Given the description of an element on the screen output the (x, y) to click on. 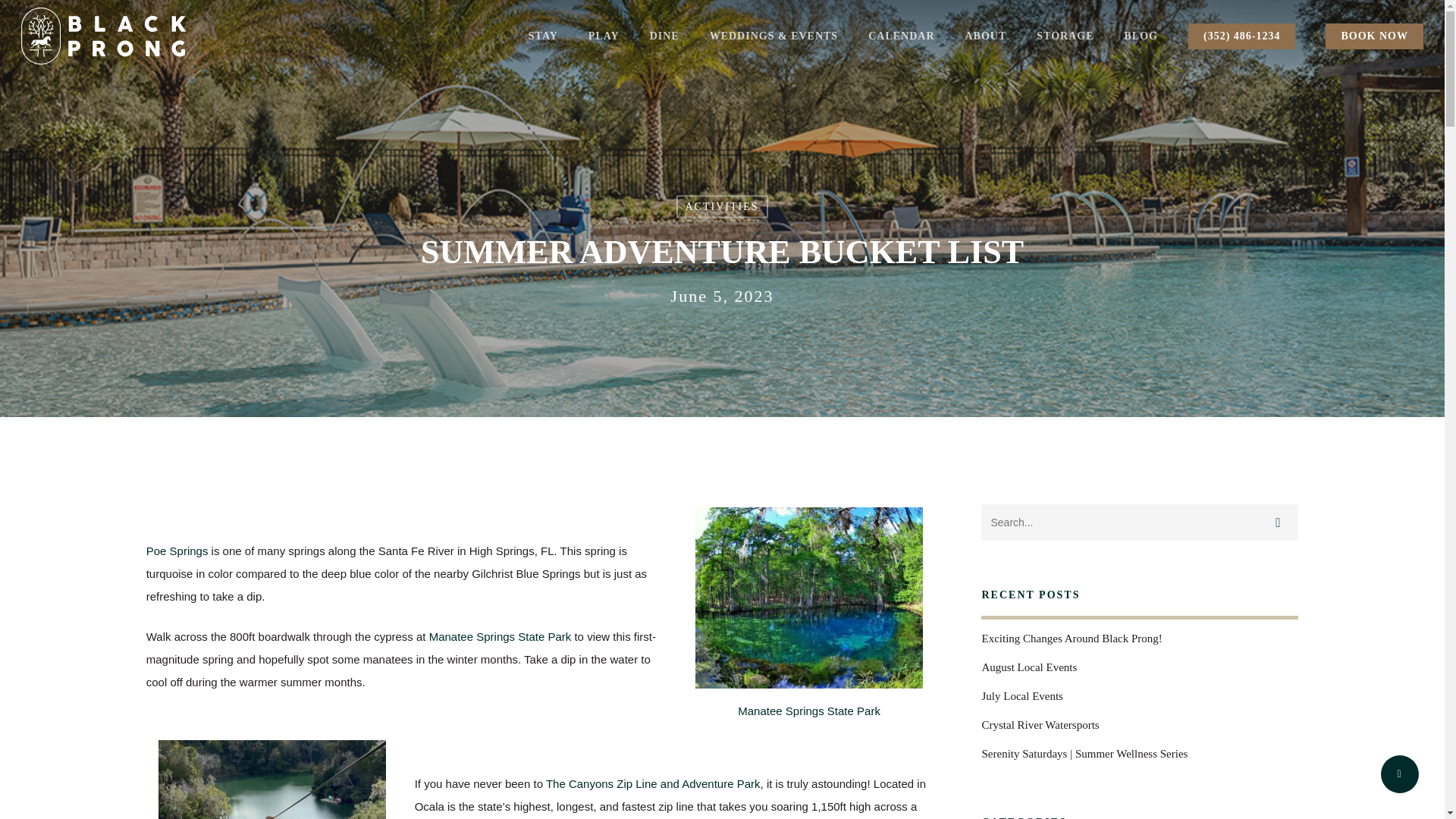
STAY (542, 36)
ABOUT (984, 36)
ACTIVITIES (722, 206)
DINE (664, 36)
Search for: (1139, 522)
Poe Springs (177, 550)
BOOK NOW (1373, 36)
CALENDAR (900, 36)
Manatee Springs State Park (500, 635)
BLOG (1140, 36)
STORAGE (1064, 36)
PLAY (604, 36)
